Given the description of an element on the screen output the (x, y) to click on. 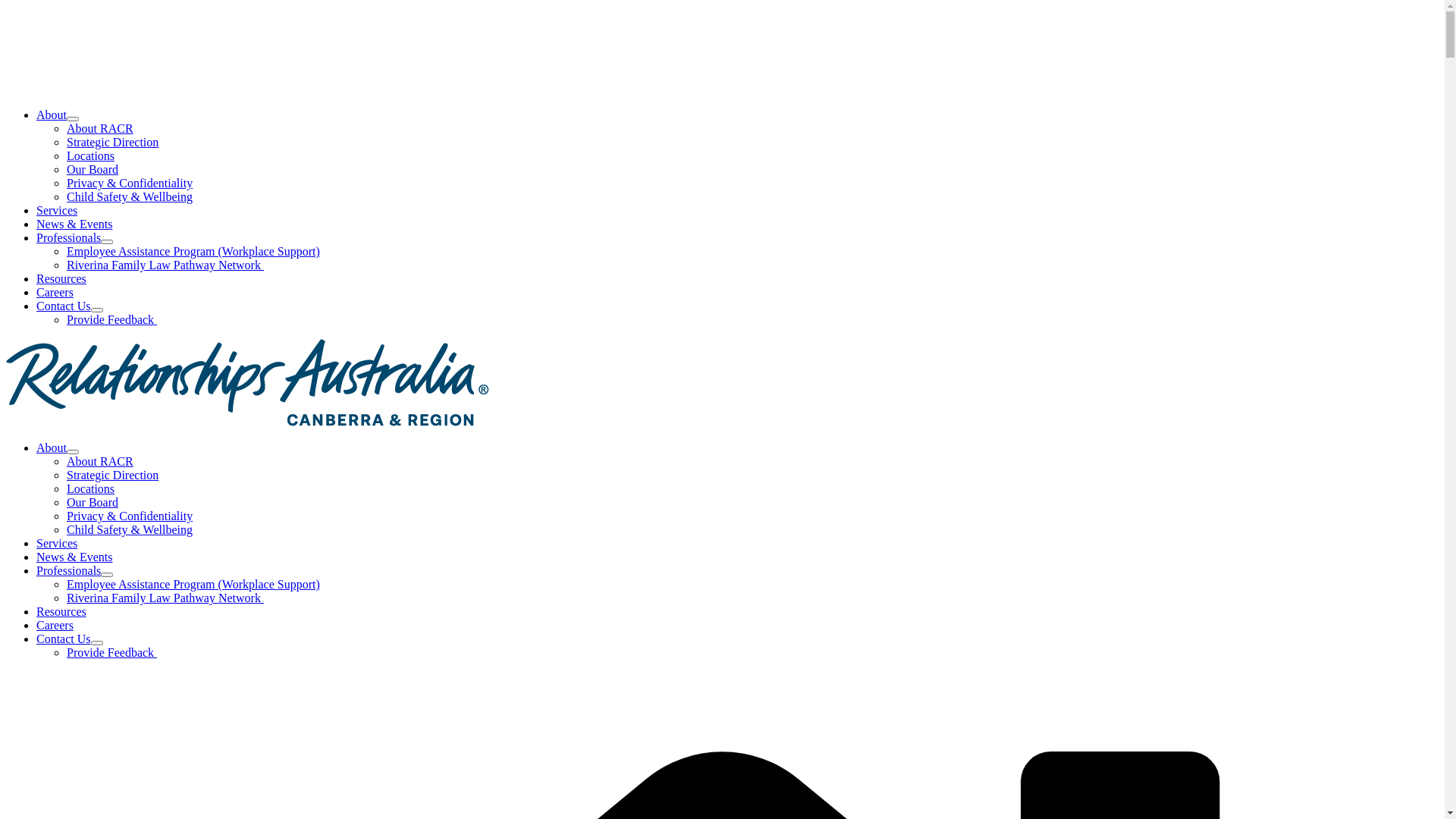
Professionals Element type: text (74, 237)
Employee Assistance Program (Workplace Support) Element type: text (193, 250)
Contact Us Element type: text (69, 305)
Careers Element type: text (54, 624)
Child Safety & Wellbeing Element type: text (129, 196)
Resources Element type: text (61, 611)
News & Events Element type: text (74, 223)
Services Element type: text (56, 209)
Child Safety & Wellbeing Element type: text (129, 529)
Locations Element type: text (90, 155)
Strategic Direction Element type: text (112, 141)
Riverina Family Law Pathway Network  Element type: text (164, 264)
About Element type: text (57, 447)
Provide Feedback  Element type: text (111, 319)
Strategic Direction Element type: text (112, 474)
Employee Assistance Program (Workplace Support) Element type: text (193, 583)
Professionals Element type: text (74, 570)
Services Element type: text (56, 542)
Skip to content Element type: text (5, 5)
About RACR Element type: text (99, 461)
About RACR Element type: text (99, 128)
Riverina Family Law Pathway Network  Element type: text (164, 597)
Contact Us Element type: text (69, 638)
Our Board Element type: text (92, 501)
Our Board Element type: text (92, 169)
Resources Element type: text (61, 278)
Locations Element type: text (90, 488)
Careers Element type: text (54, 291)
News & Events Element type: text (74, 556)
Privacy & Confidentiality Element type: text (129, 515)
Privacy & Confidentiality Element type: text (129, 182)
About Element type: text (57, 114)
Provide Feedback  Element type: text (111, 652)
